Given the description of an element on the screen output the (x, y) to click on. 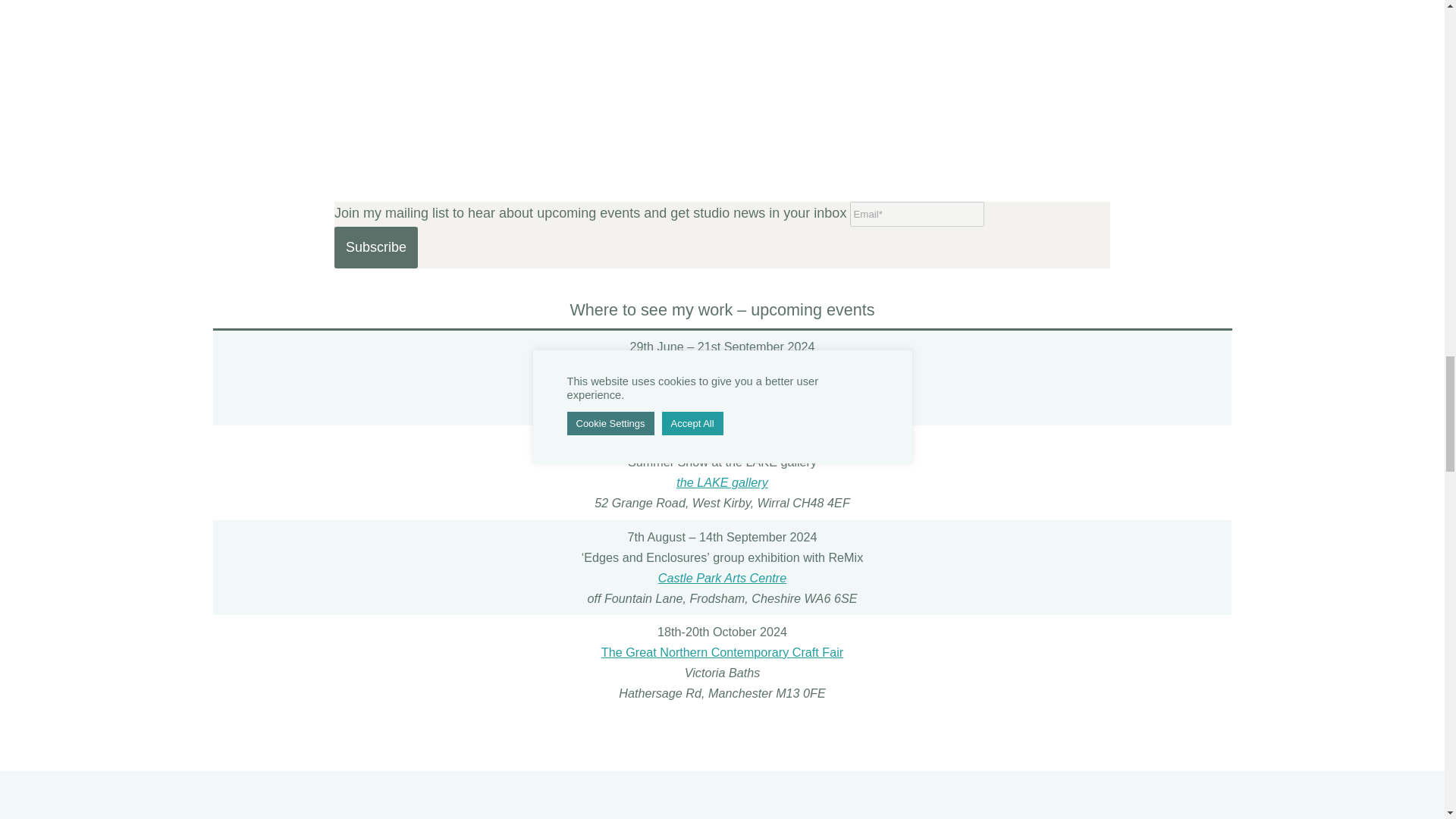
Subscribe (375, 247)
Oriel Mostyn (722, 386)
the LAKE gallery (722, 481)
The Great Northern Contemporary Craft Fair (722, 652)
Subscribe (375, 247)
Castle Park Arts Centre (722, 577)
